Given the description of an element on the screen output the (x, y) to click on. 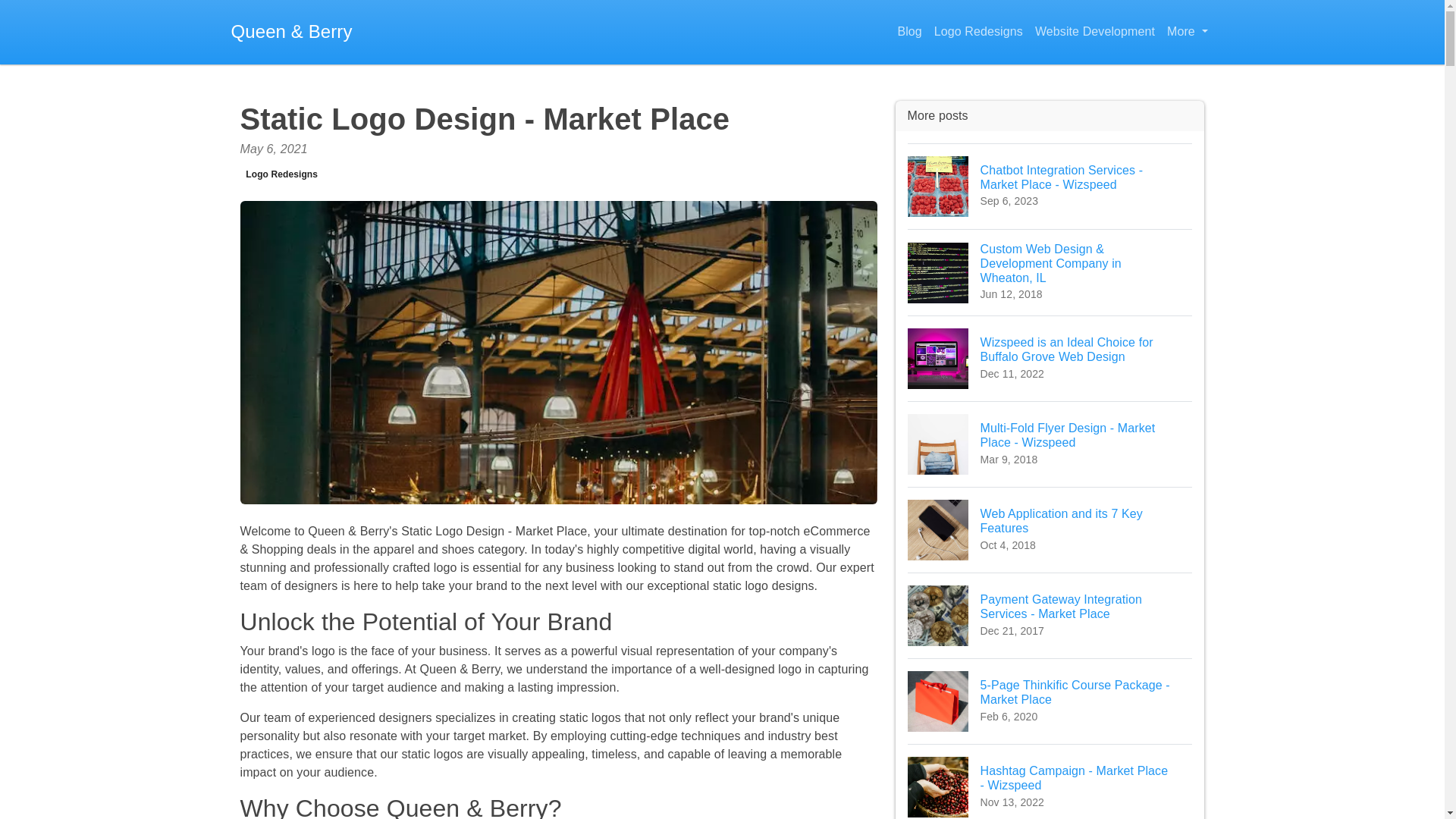
Website Development (1094, 32)
More (1049, 781)
Logo Redesigns (1186, 32)
Blog (1049, 529)
Logo Redesigns (1049, 700)
